Given the description of an element on the screen output the (x, y) to click on. 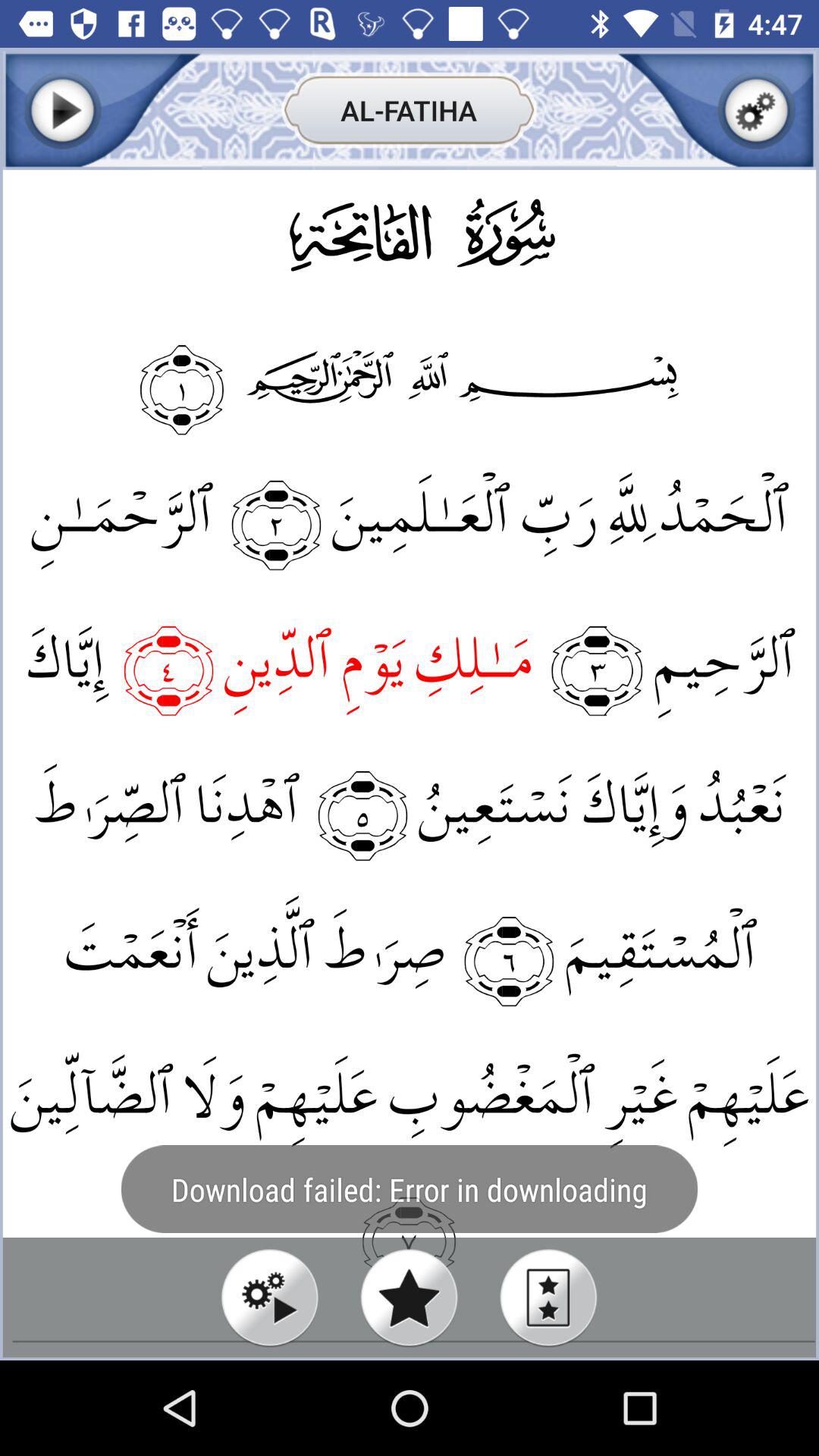
click on star icon (408, 1297)
